Given the description of an element on the screen output the (x, y) to click on. 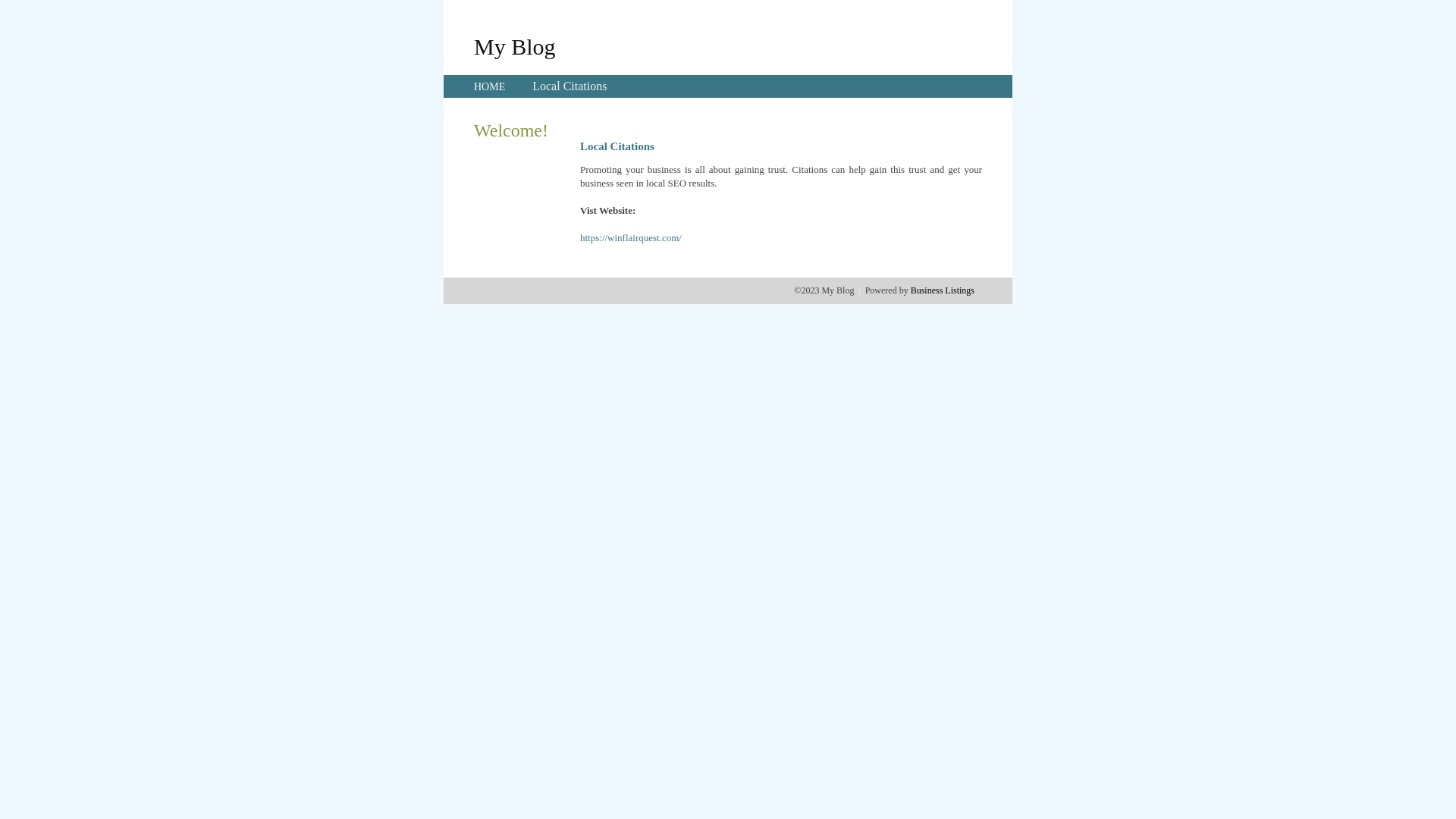
HOME Element type: text (489, 86)
Local Citations Element type: text (569, 85)
https://winflairquest.com/ Element type: text (630, 237)
My Blog Element type: text (514, 46)
Business Listings Element type: text (942, 290)
